Given the description of an element on the screen output the (x, y) to click on. 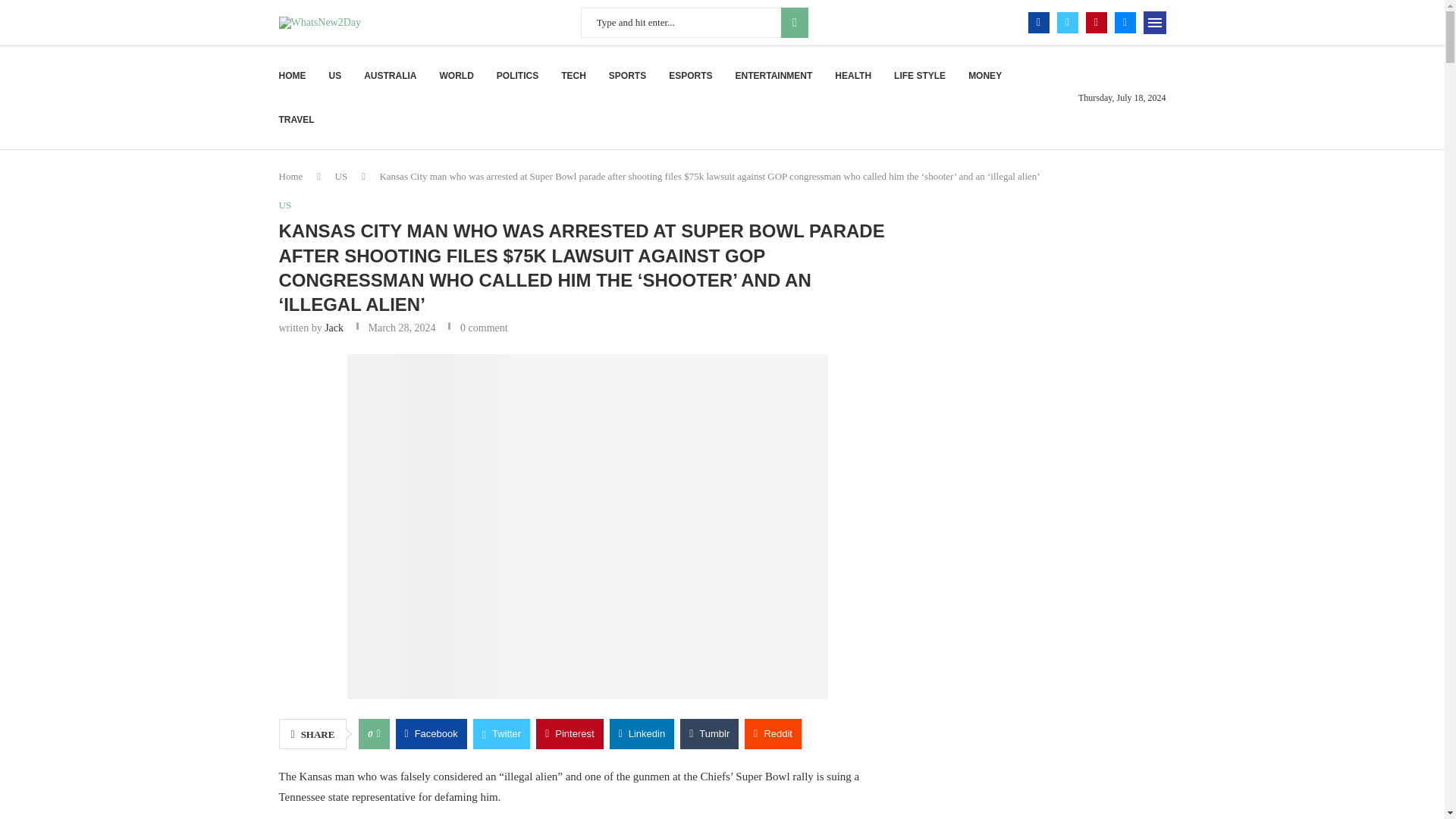
ESPORTS (689, 75)
AUSTRALIA (390, 75)
LIFE STYLE (918, 75)
POLITICS (517, 75)
ENTERTAINMENT (773, 75)
SEARCH (794, 22)
